Given the description of an element on the screen output the (x, y) to click on. 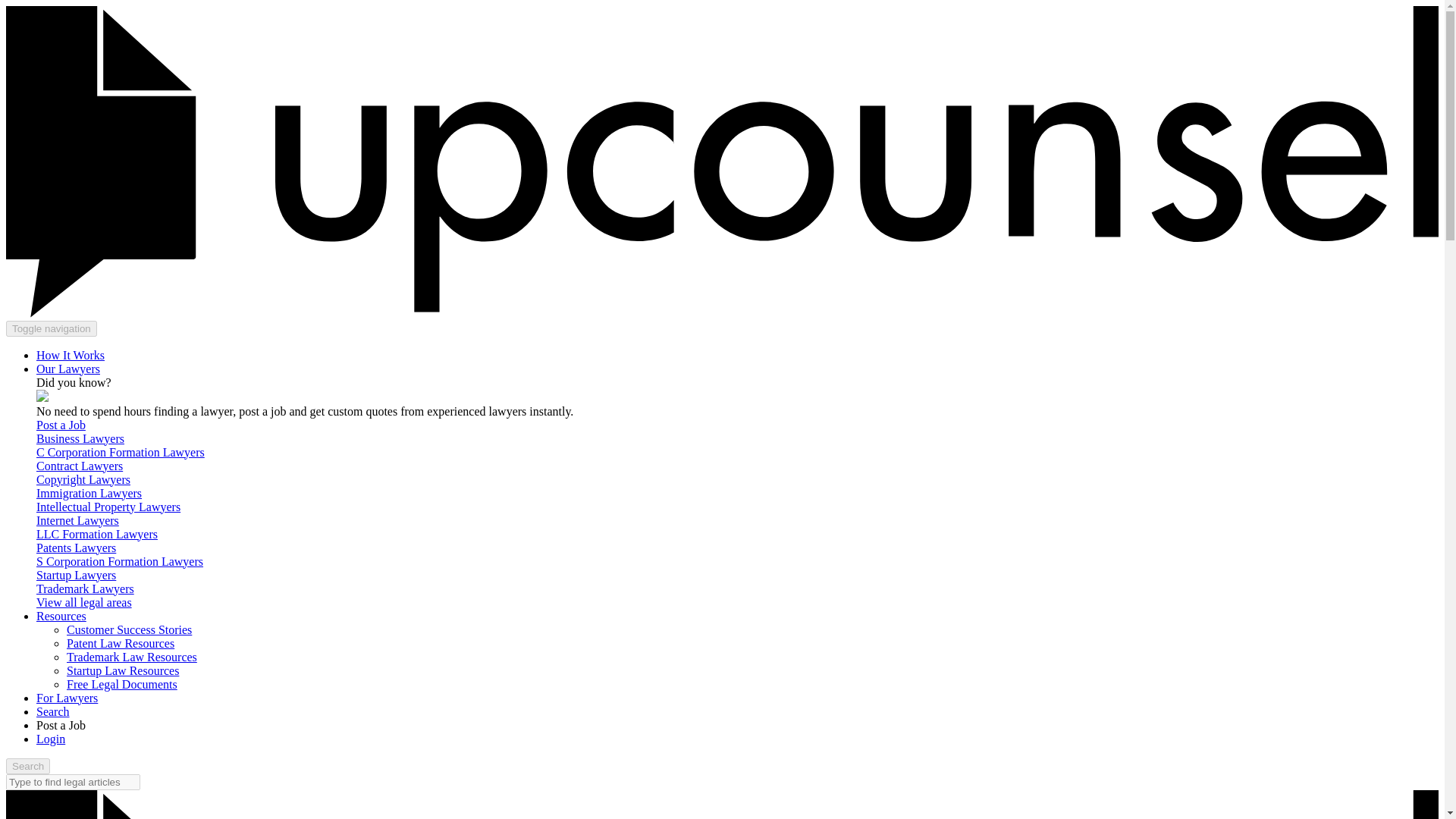
View all legal areas (84, 602)
Search (52, 711)
Search (27, 765)
Resources (60, 615)
Trademark Law Resources (131, 656)
For Lawyers (66, 697)
Customer Success Stories (129, 629)
Our Lawyers (68, 368)
Post a Job (60, 424)
Patent Law Resources (120, 643)
